Given the description of an element on the screen output the (x, y) to click on. 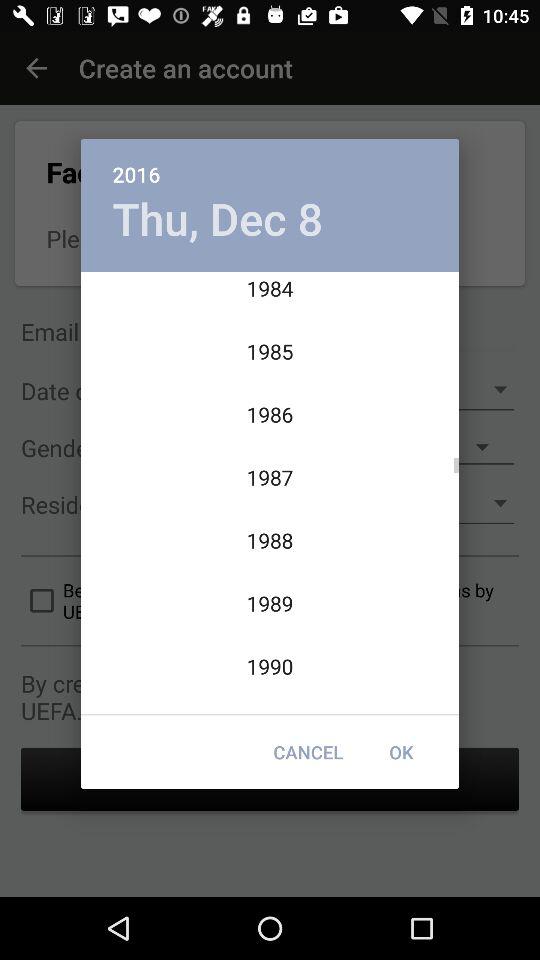
turn off thu, dec 8 icon (217, 218)
